Given the description of an element on the screen output the (x, y) to click on. 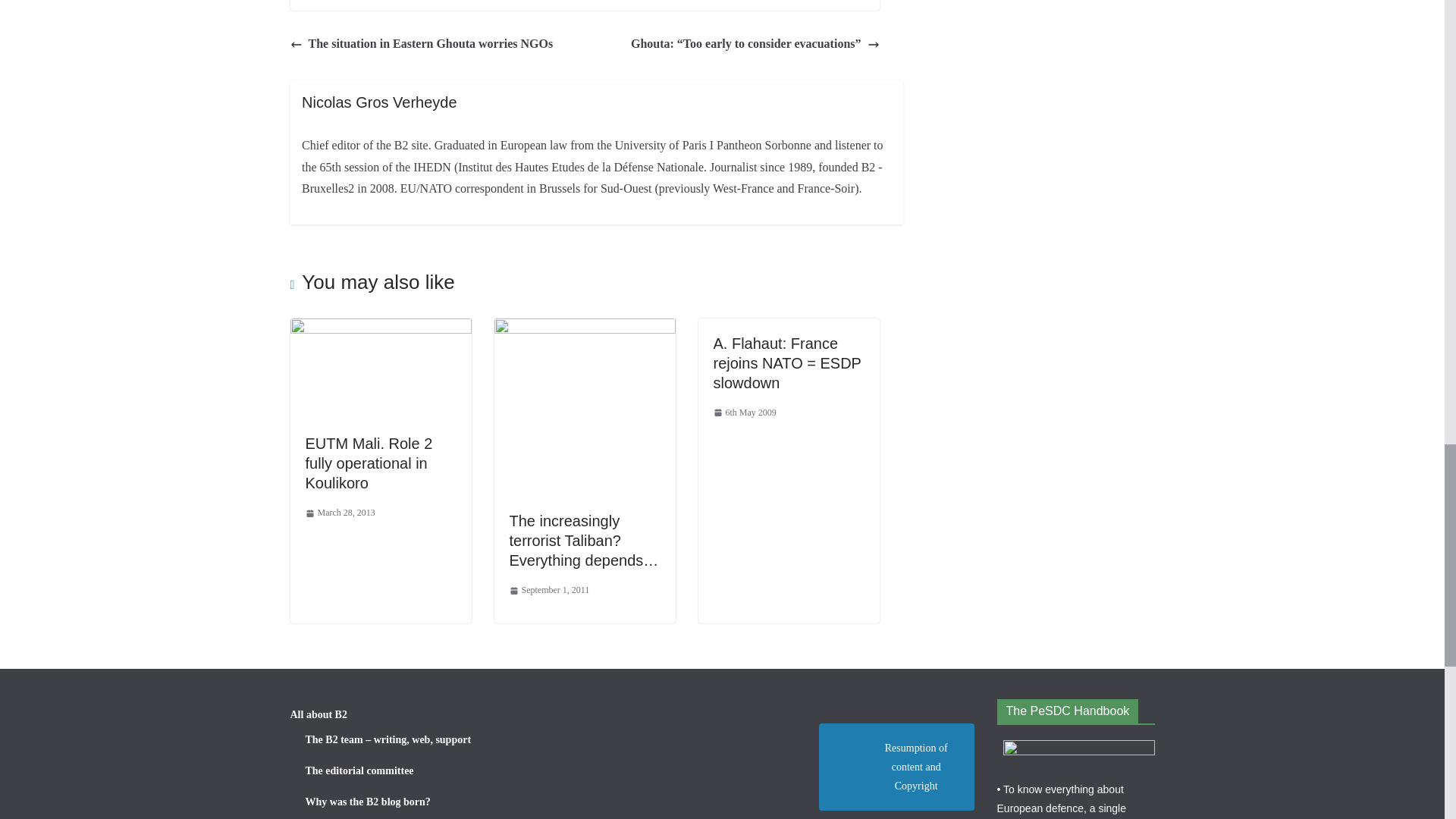
EUTM Mali. Role 2 fully operational in Koulikoro (368, 462)
EUTM Mali. Role 2 fully operational in Koulikoro (379, 328)
22:47 (339, 513)
